Given the description of an element on the screen output the (x, y) to click on. 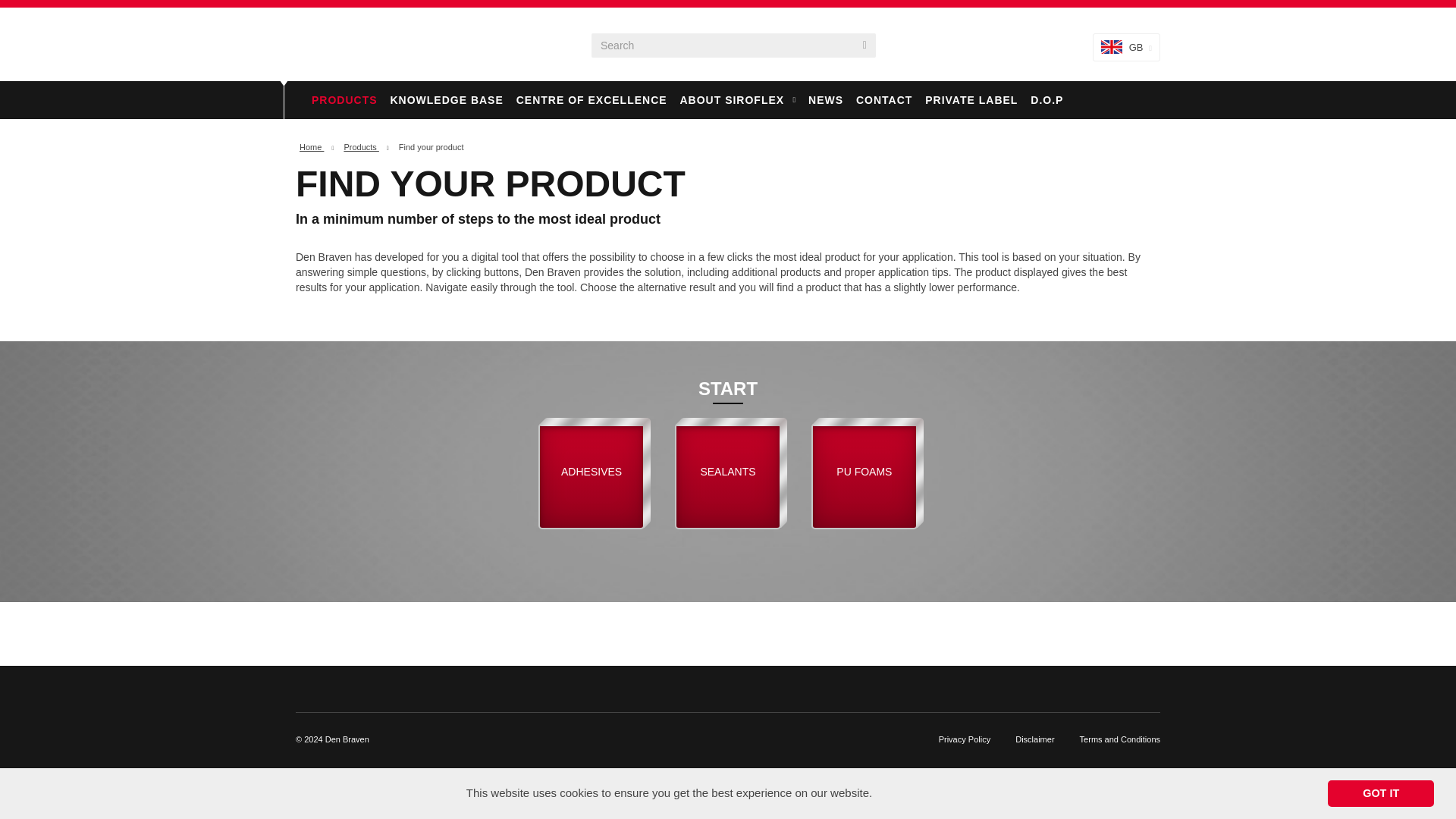
Home (311, 146)
on (733, 414)
on (869, 414)
KNOWLEDGE BASE (445, 99)
Products (360, 146)
Privacy Policy (965, 738)
Den Braven (352, 44)
PRIVATE LABEL (971, 99)
Den Braven (352, 44)
NEWS (825, 99)
CENTRE OF EXCELLENCE (591, 99)
ABOUT SIROFLEX (737, 99)
PRODUCTS (344, 99)
GOT IT (1380, 792)
CONTACT (884, 99)
